Given the description of an element on the screen output the (x, y) to click on. 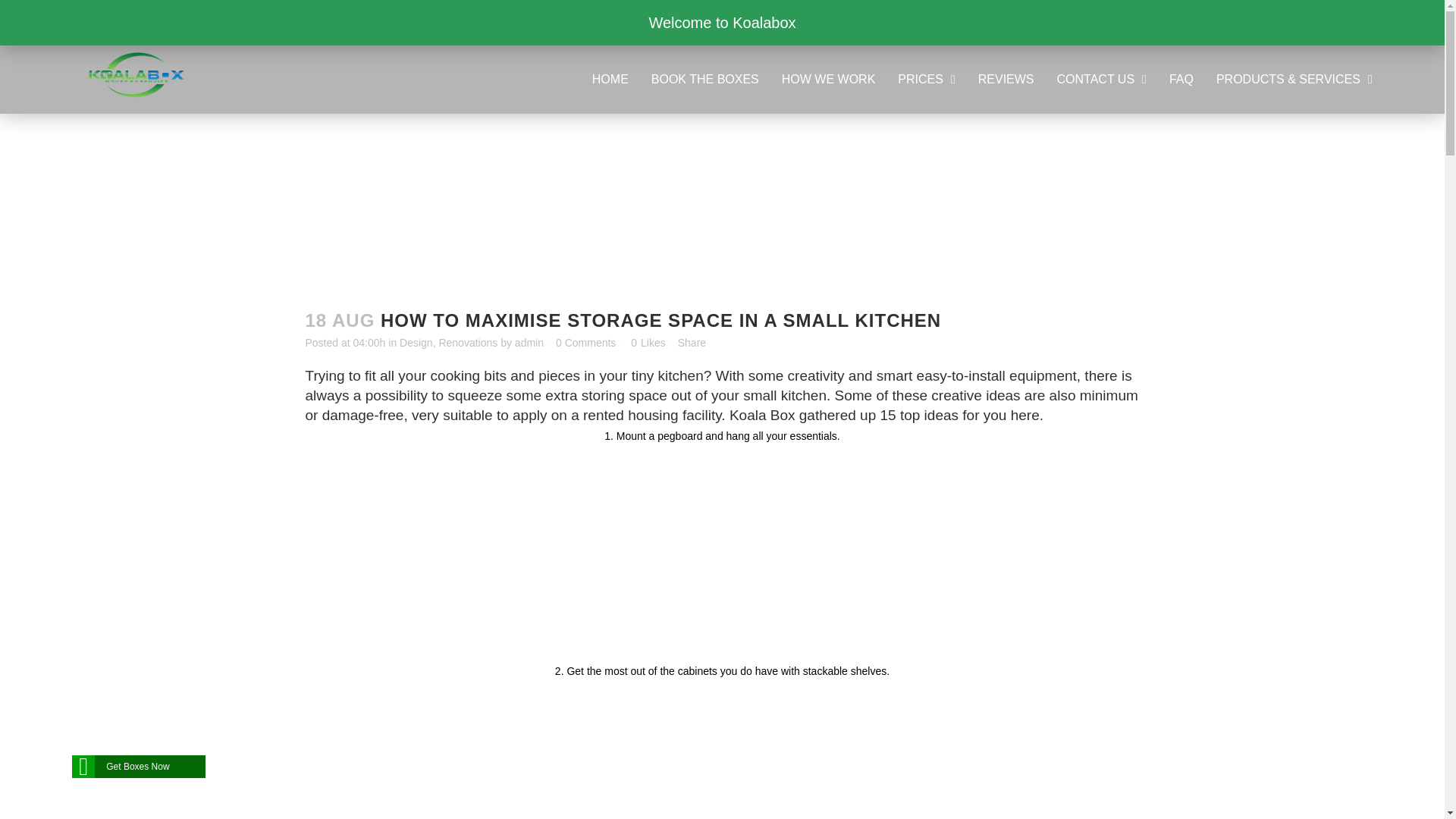
HOME (610, 79)
HOW WE WORK (828, 79)
Like this (647, 342)
CONTACT US (1102, 79)
REVIEWS (1005, 79)
BOOK THE BOXES (704, 79)
PRICES (926, 79)
